Given the description of an element on the screen output the (x, y) to click on. 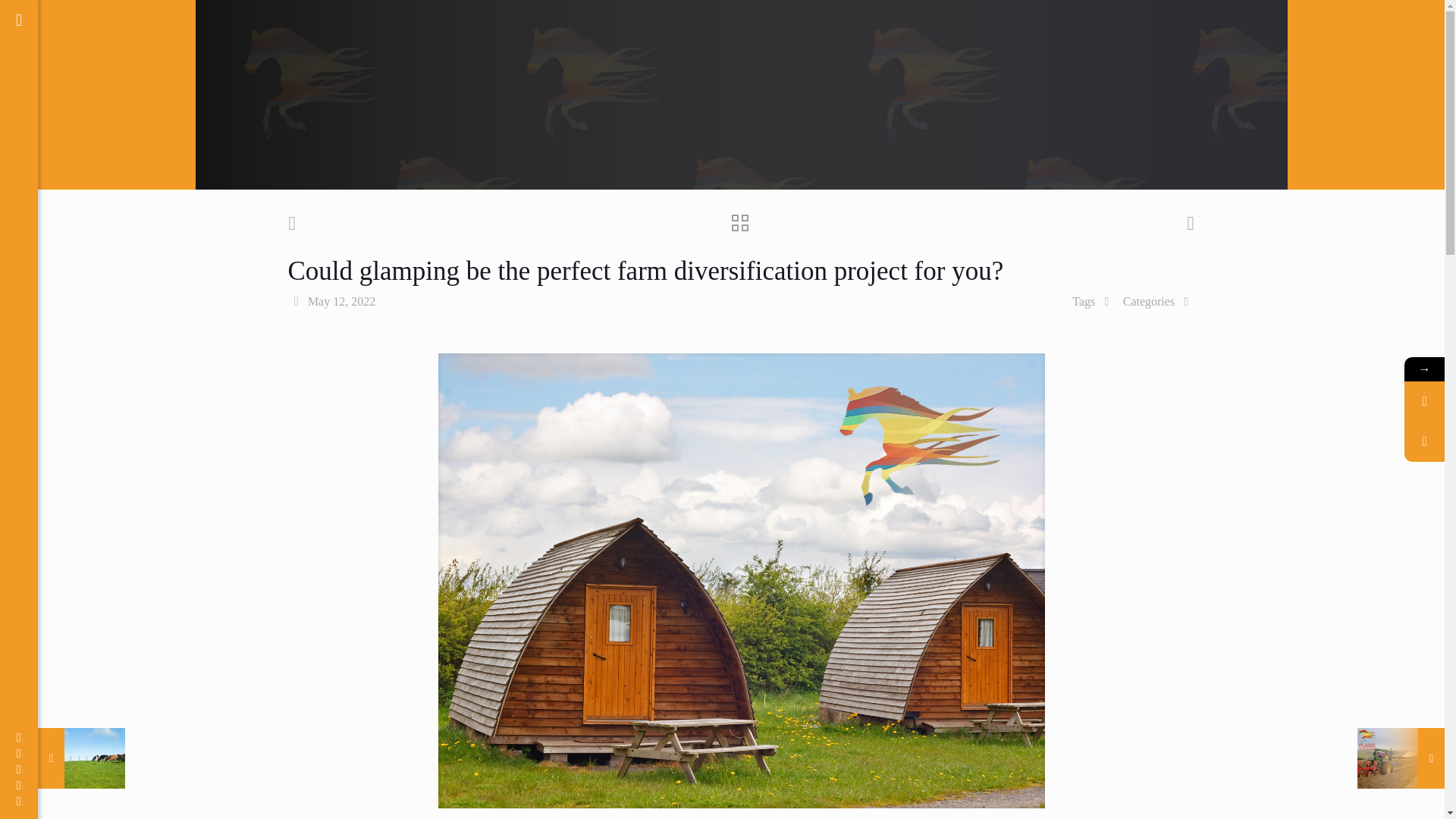
Instagram (18, 800)
Twitter (18, 753)
YouTube (18, 768)
LinkedIn (18, 784)
Facebook (18, 737)
